Given the description of an element on the screen output the (x, y) to click on. 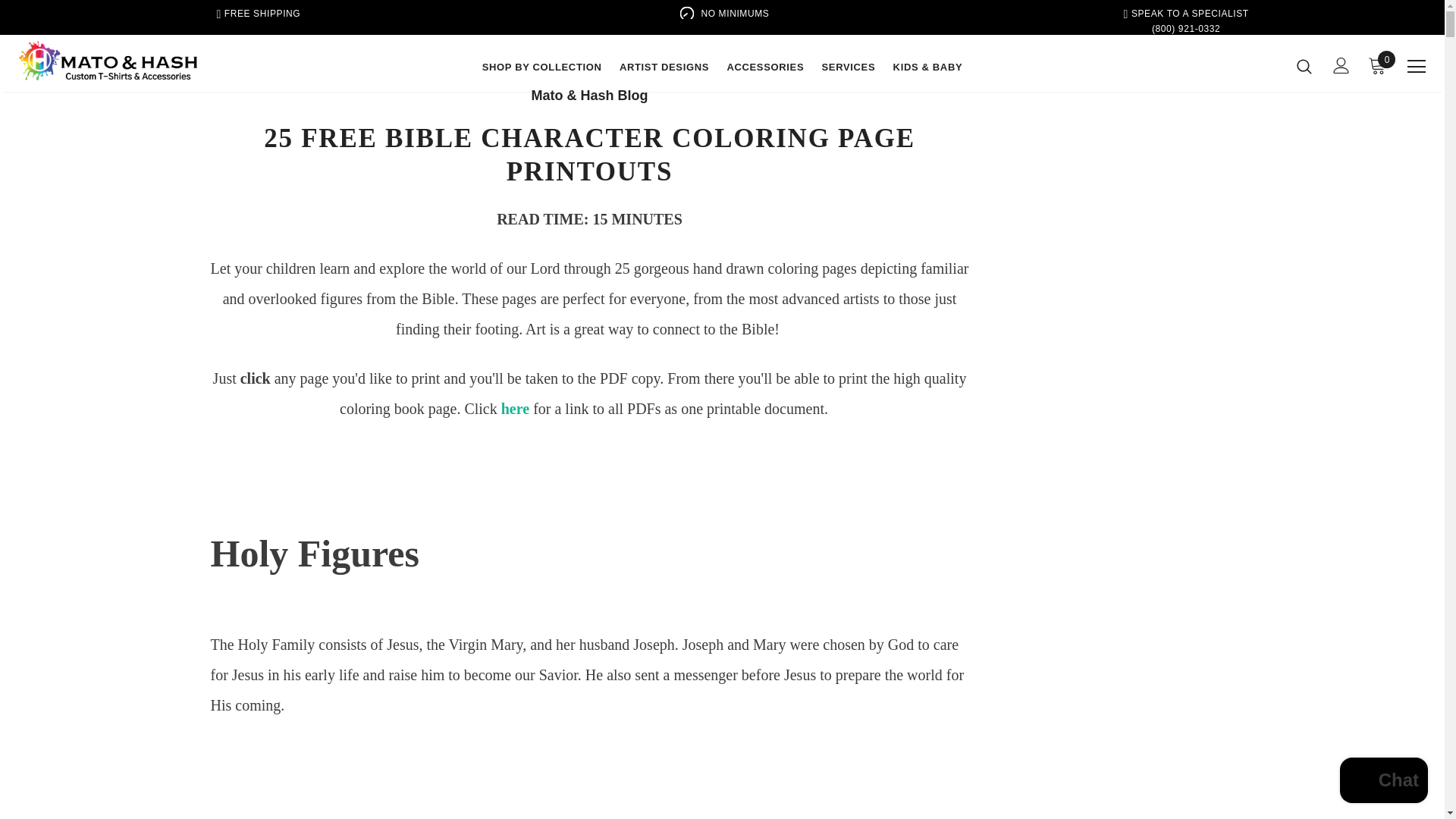
SHOP BY COLLECTION (541, 70)
Logo (107, 60)
Search Icon (1304, 65)
